Given the description of an element on the screen output the (x, y) to click on. 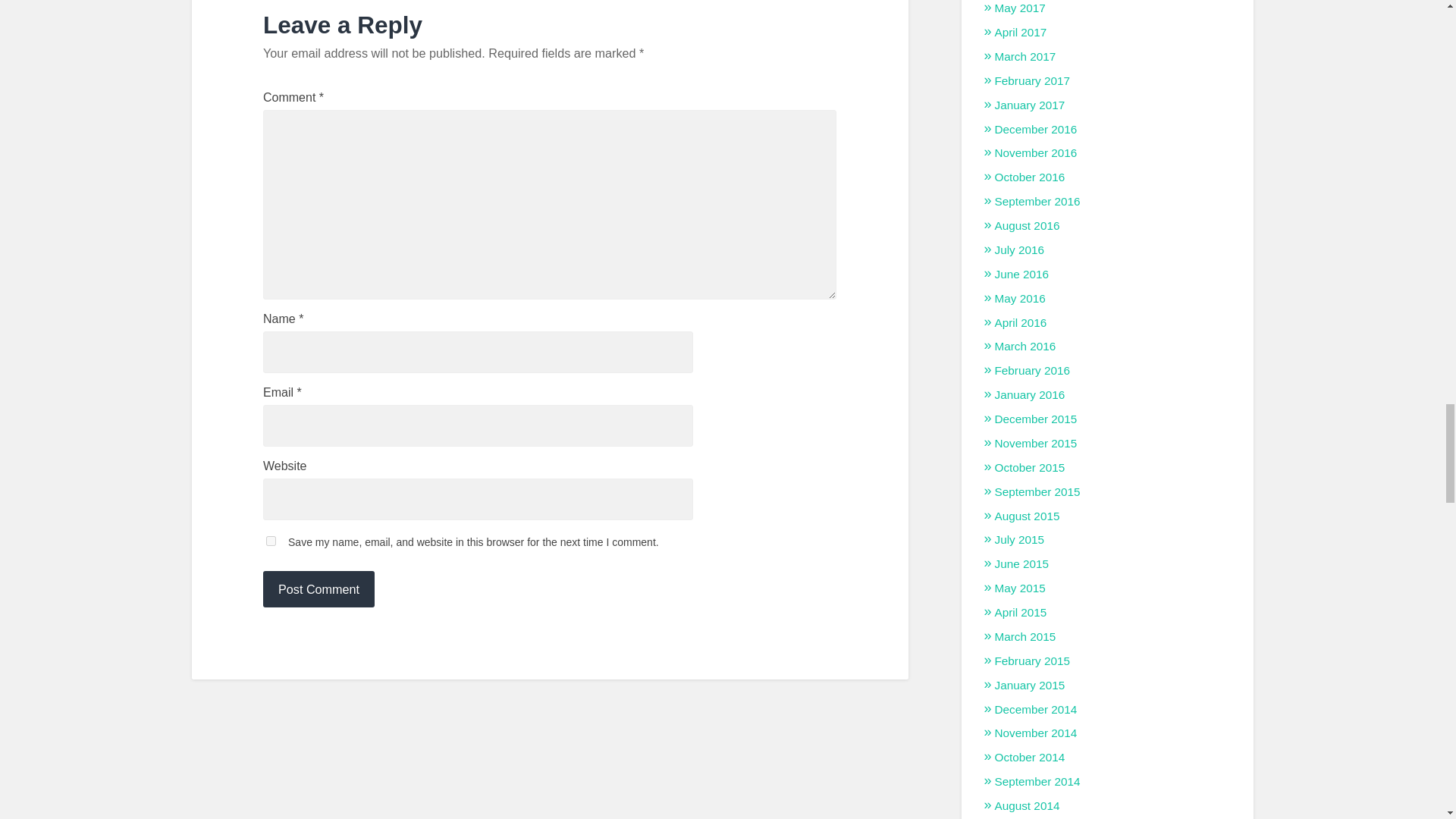
yes (271, 541)
Post Comment (318, 588)
Post Comment (318, 588)
